Given the description of an element on the screen output the (x, y) to click on. 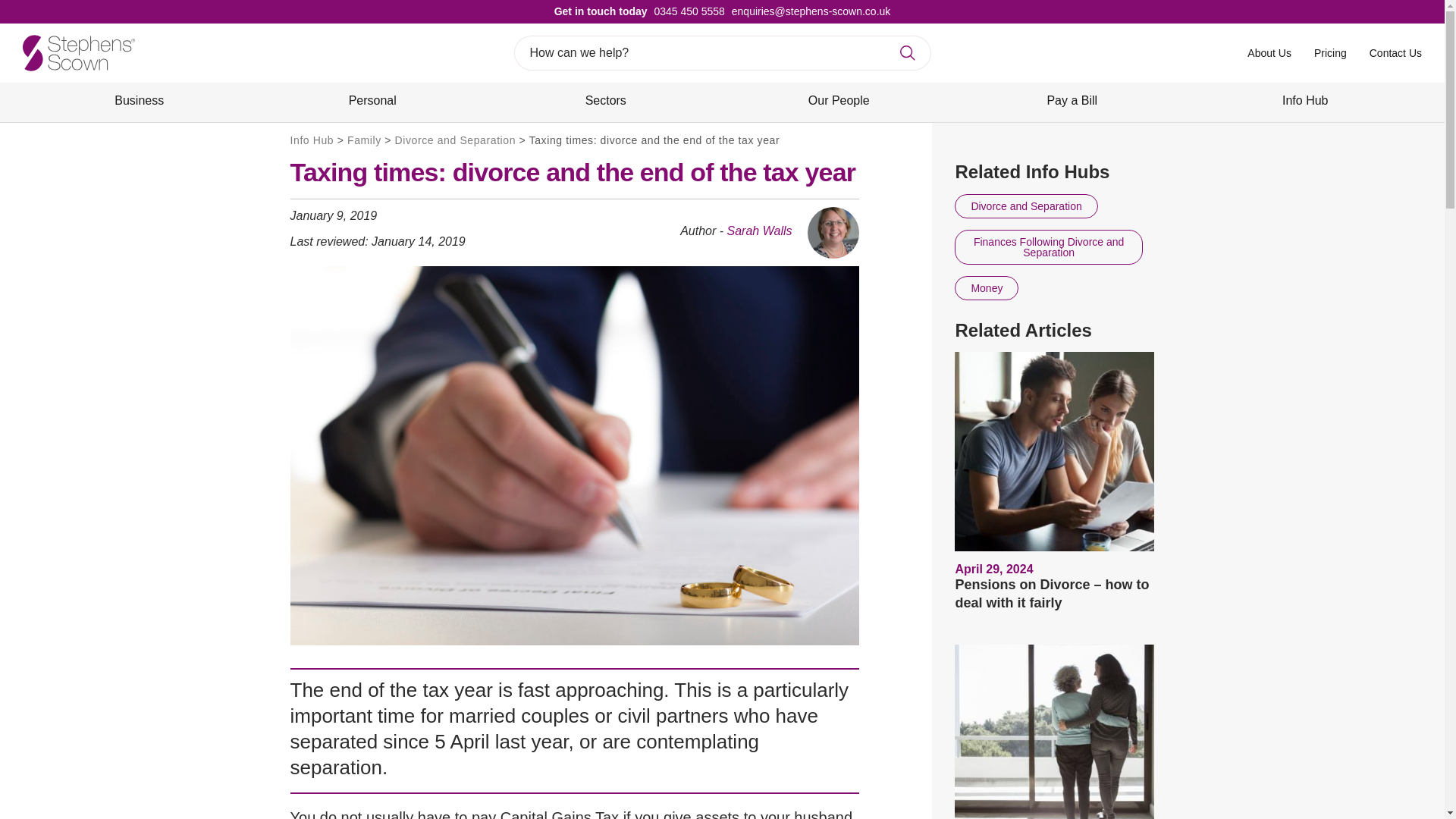
Go to the Info Hub Info hub Category archives. (311, 140)
0345 450 5558 (686, 10)
Go to the Divorce and Separation Info hub Category archives. (455, 140)
Contact Us (1396, 52)
About Us (1269, 52)
Posts by Sarah Walls (759, 230)
Go to the Family Info hub Category archives. (364, 140)
Pricing (1330, 52)
